Given the description of an element on the screen output the (x, y) to click on. 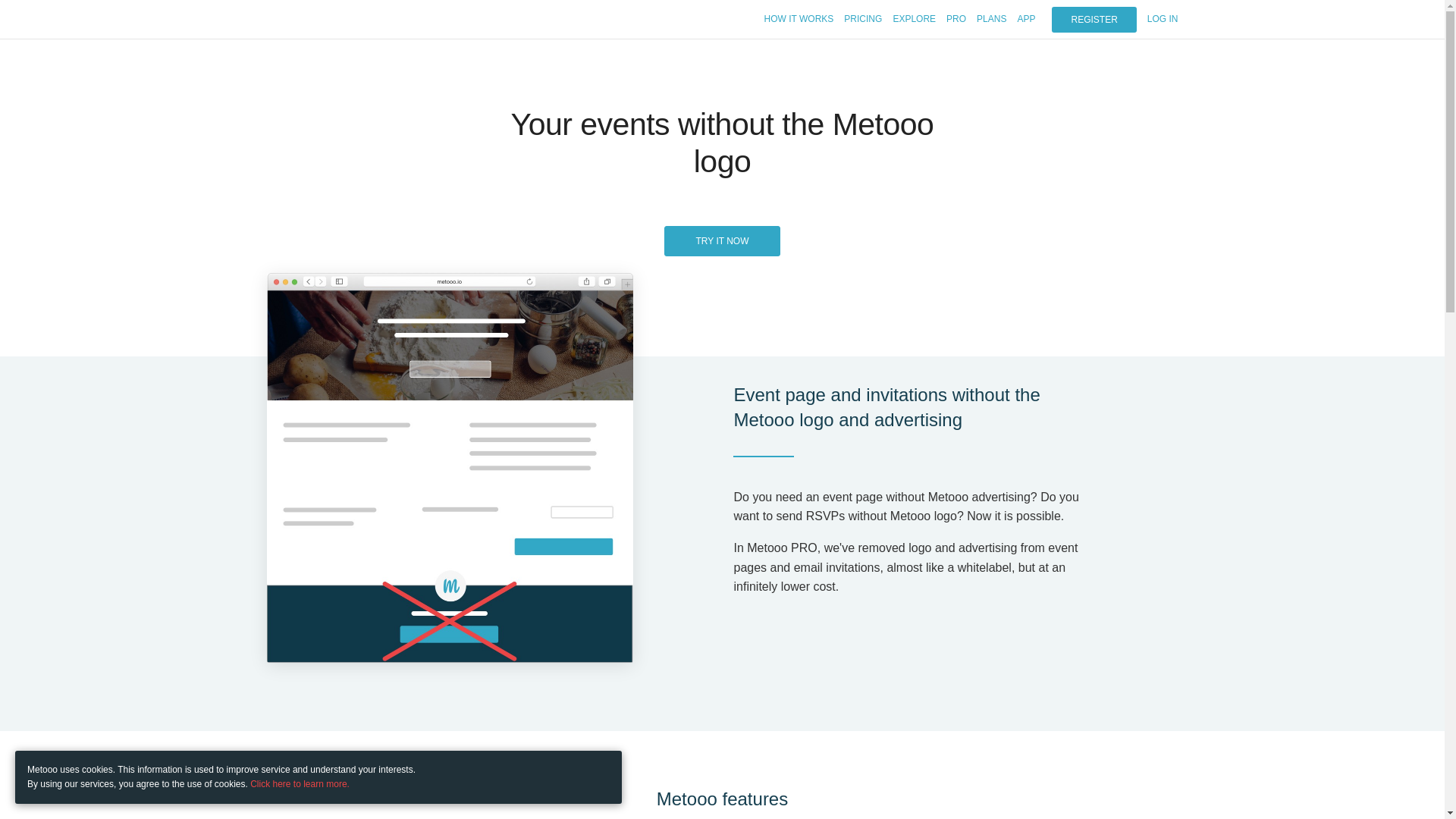
APP (1025, 18)
REGISTER (1093, 19)
TRY IT NOW (720, 241)
PRO (956, 18)
PLANS (991, 18)
PRICING (863, 18)
HOW IT WORKS (799, 18)
LOG IN (1162, 18)
EXPLORE (914, 18)
